Given the description of an element on the screen output the (x, y) to click on. 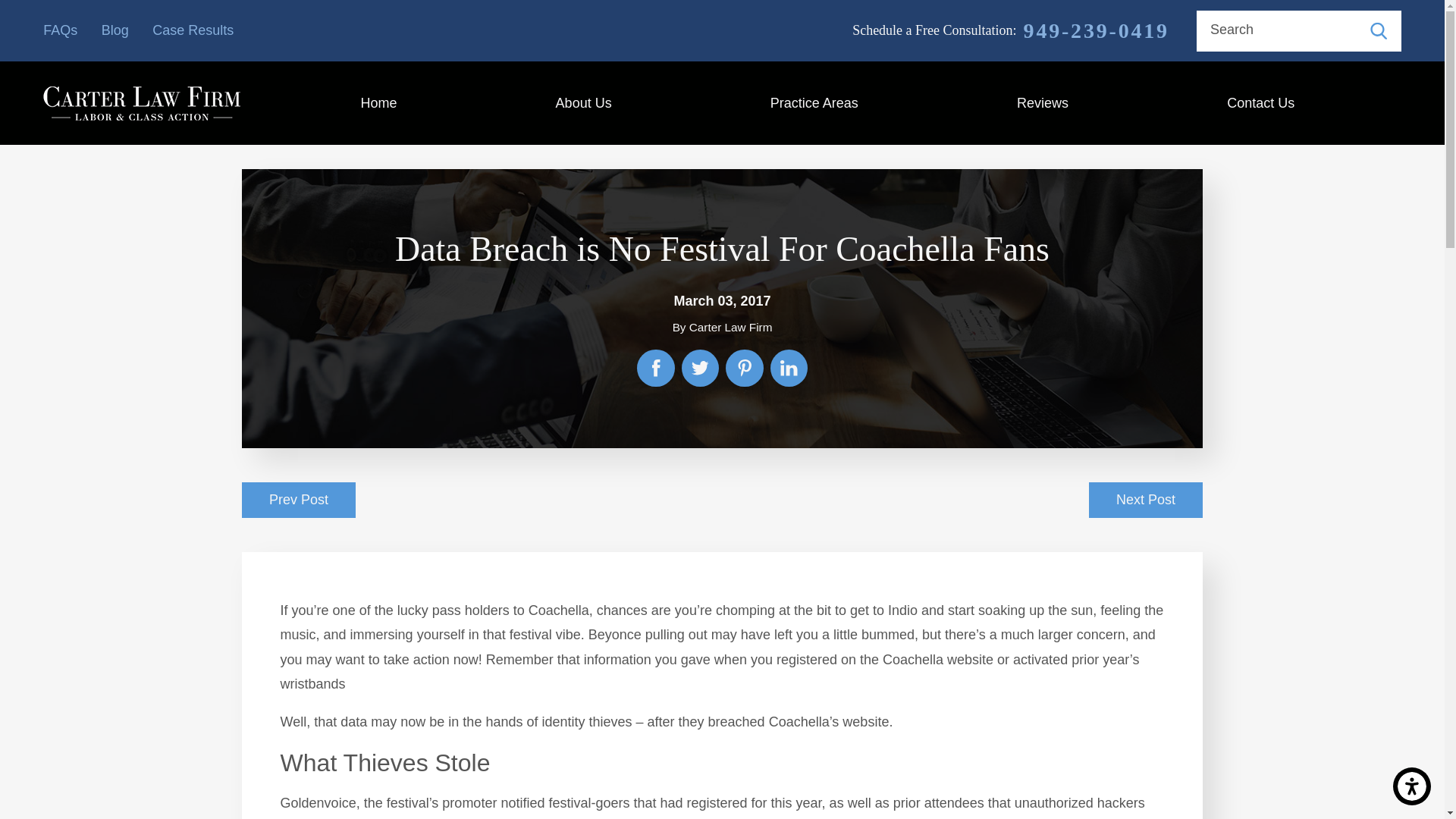
949-239-0419 (1096, 31)
Search Icon (1378, 30)
Blog (115, 29)
Contact Us (1261, 102)
Case Results (192, 29)
Home (378, 102)
Search Our Site (1378, 30)
Open the accessibility options menu (1412, 786)
Reviews (1042, 102)
FAQs (60, 29)
